Given the description of an element on the screen output the (x, y) to click on. 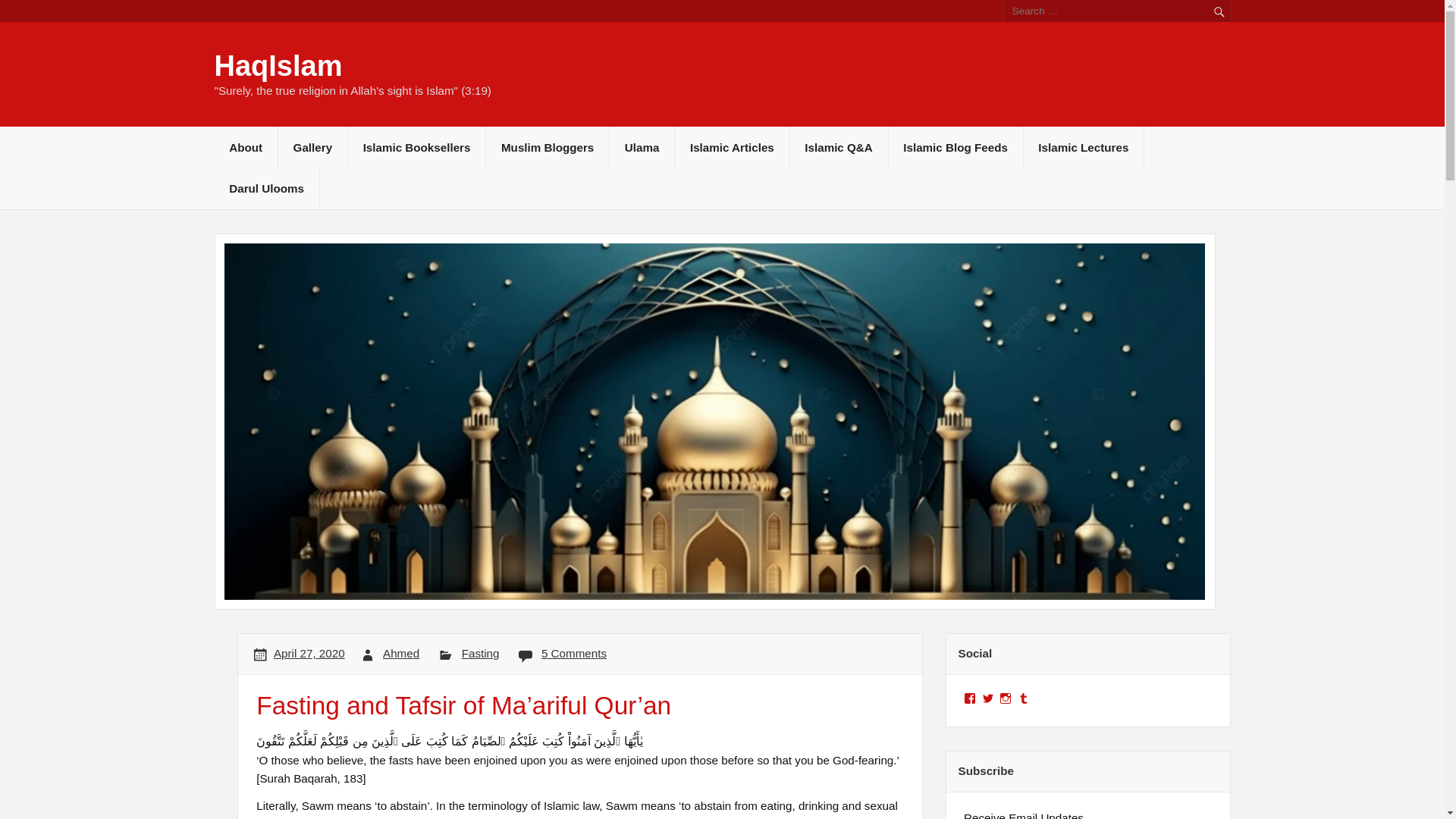
5 Comments (574, 653)
About (245, 147)
Islamic Articles (732, 147)
April 27, 2020 (309, 653)
Islamic Lectures (1083, 147)
Darul Ulooms (266, 188)
View all posts by Ahmed (400, 653)
Islamic Blog Feeds (955, 147)
HaqIslam (278, 65)
7:17 pm (309, 653)
Ahmed (400, 653)
Muslim Bloggers (547, 147)
Islamic Booksellers (415, 147)
Fasting (480, 653)
Ulama (642, 147)
